Given the description of an element on the screen output the (x, y) to click on. 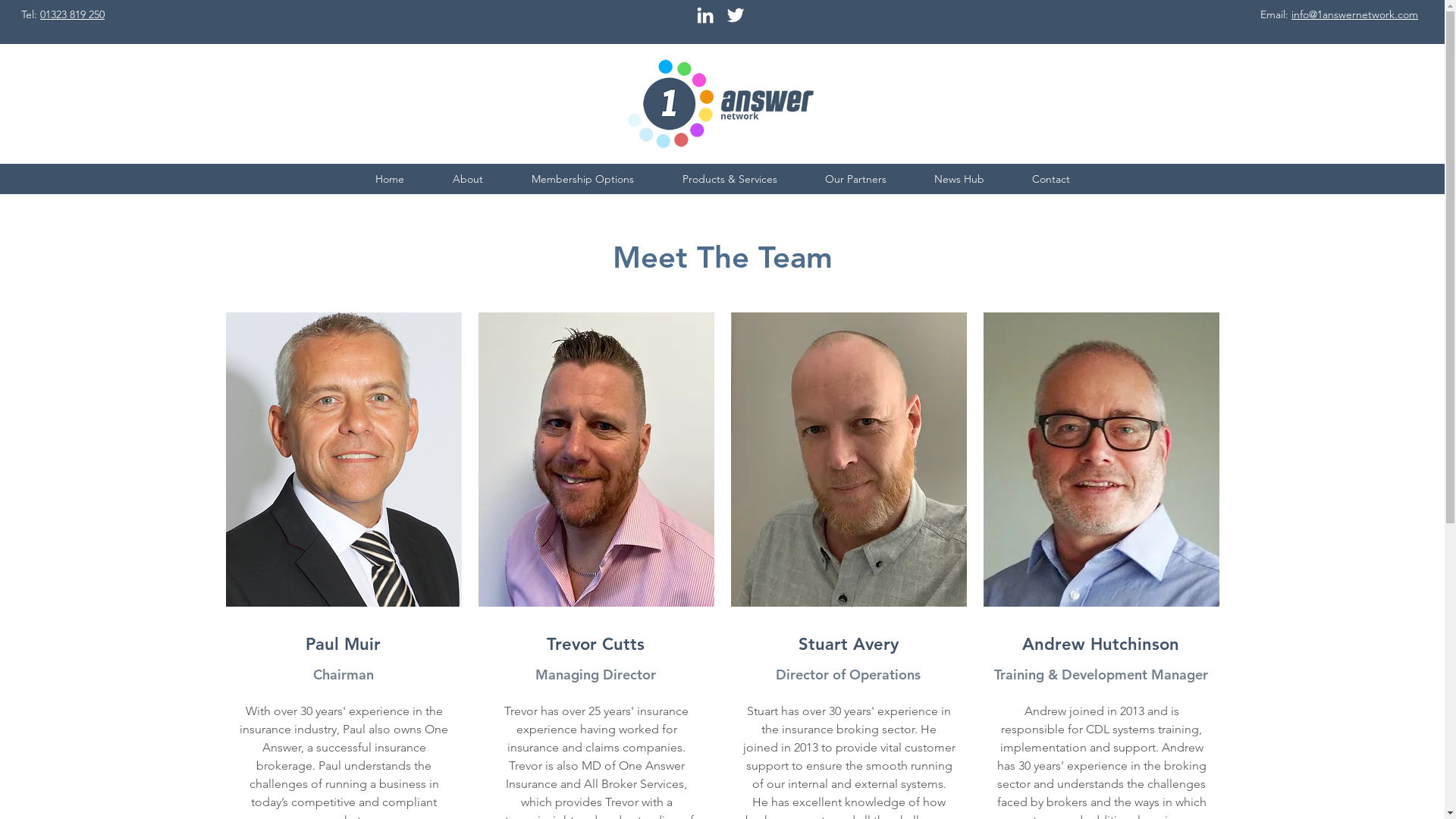
Our Partners Element type: text (855, 178)
Membership Options Element type: text (581, 178)
News Hub Element type: text (958, 178)
Home Element type: text (388, 178)
01323 819 250 Element type: text (72, 14)
Contact Element type: text (1051, 178)
info@1answernetwork.com Element type: text (1354, 14)
